Given the description of an element on the screen output the (x, y) to click on. 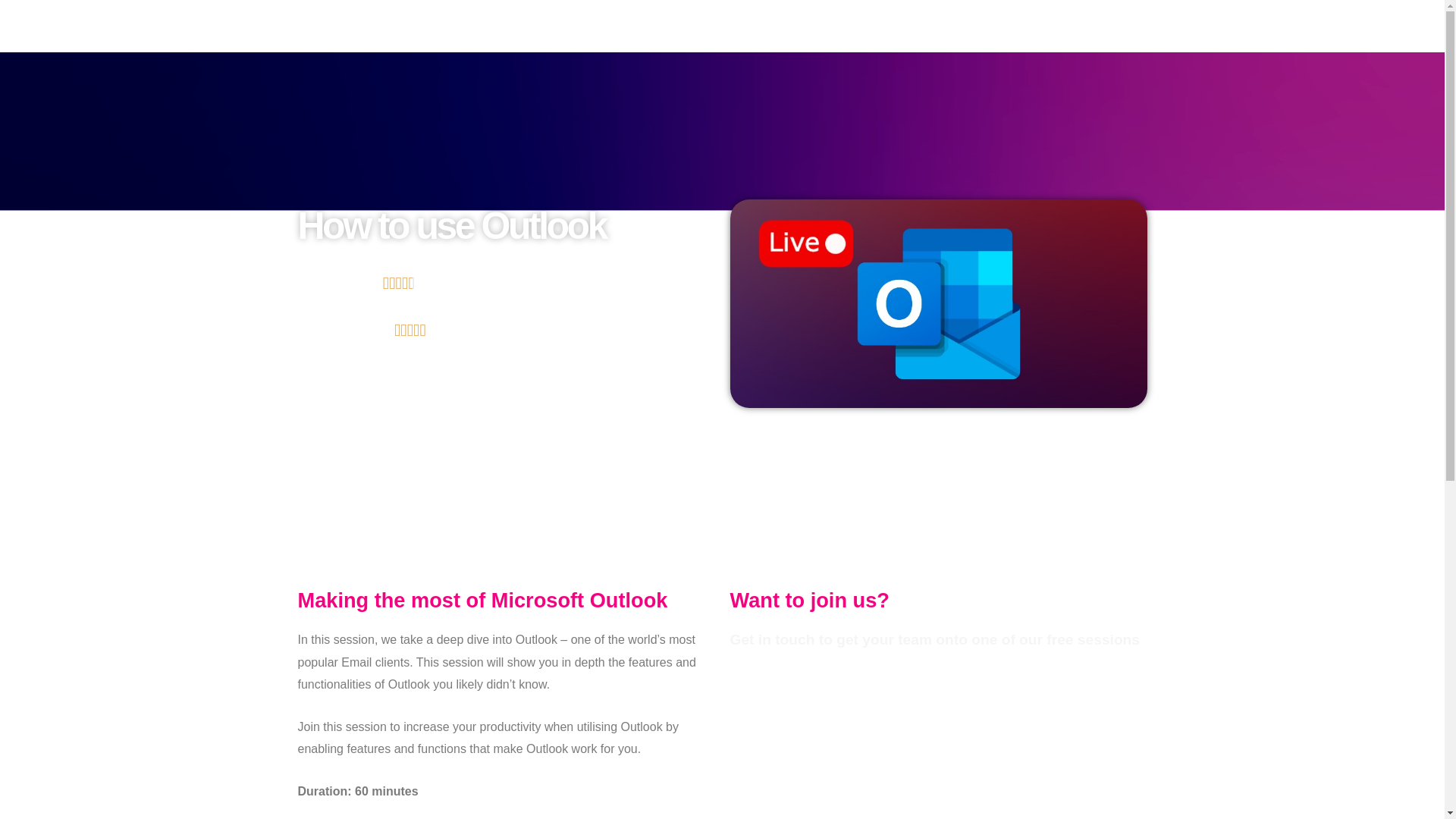
Twitter (722, 161)
Youtube (763, 161)
Facebook (679, 161)
